Given the description of an element on the screen output the (x, y) to click on. 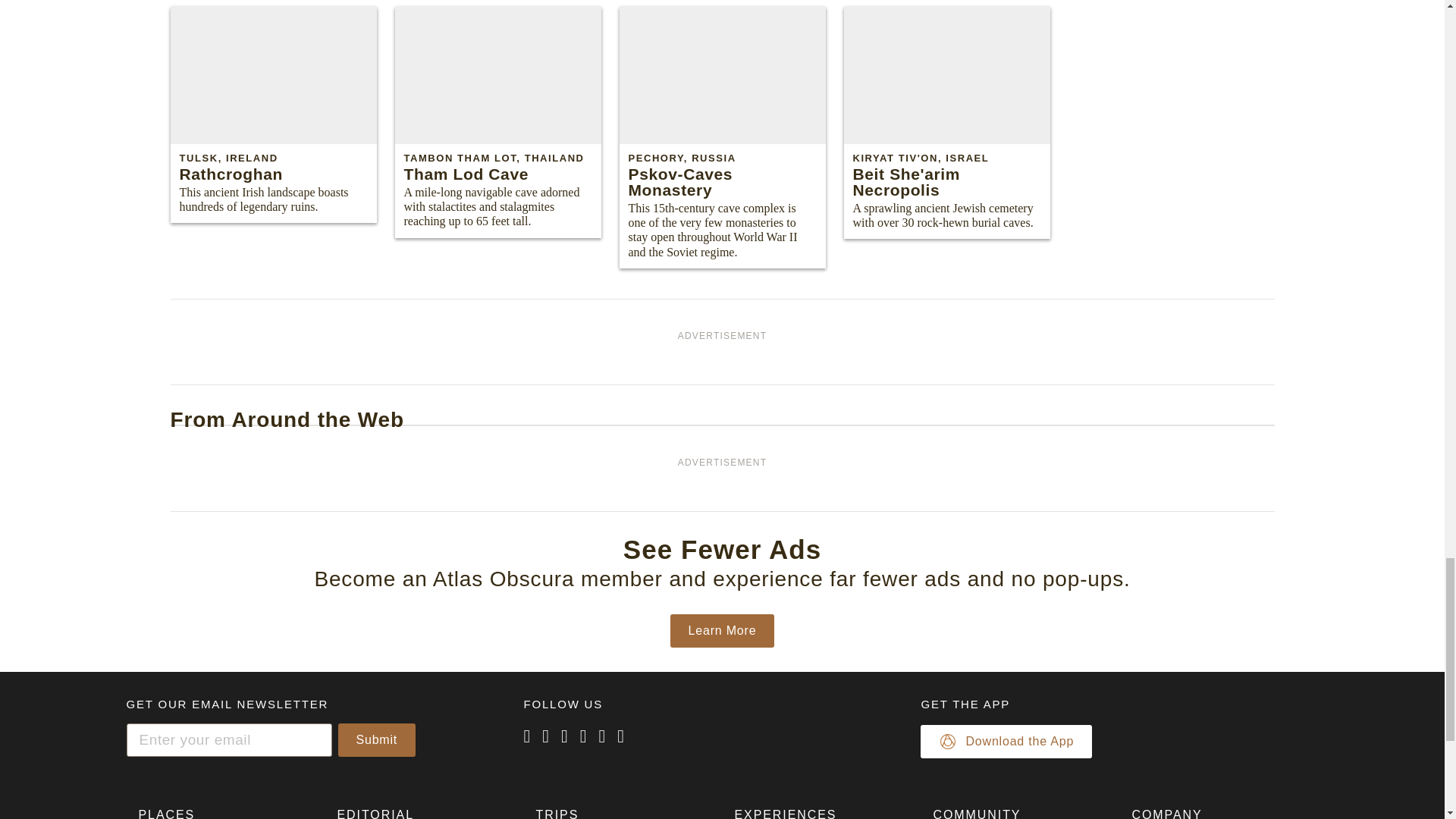
Submit (376, 739)
